Given the description of an element on the screen output the (x, y) to click on. 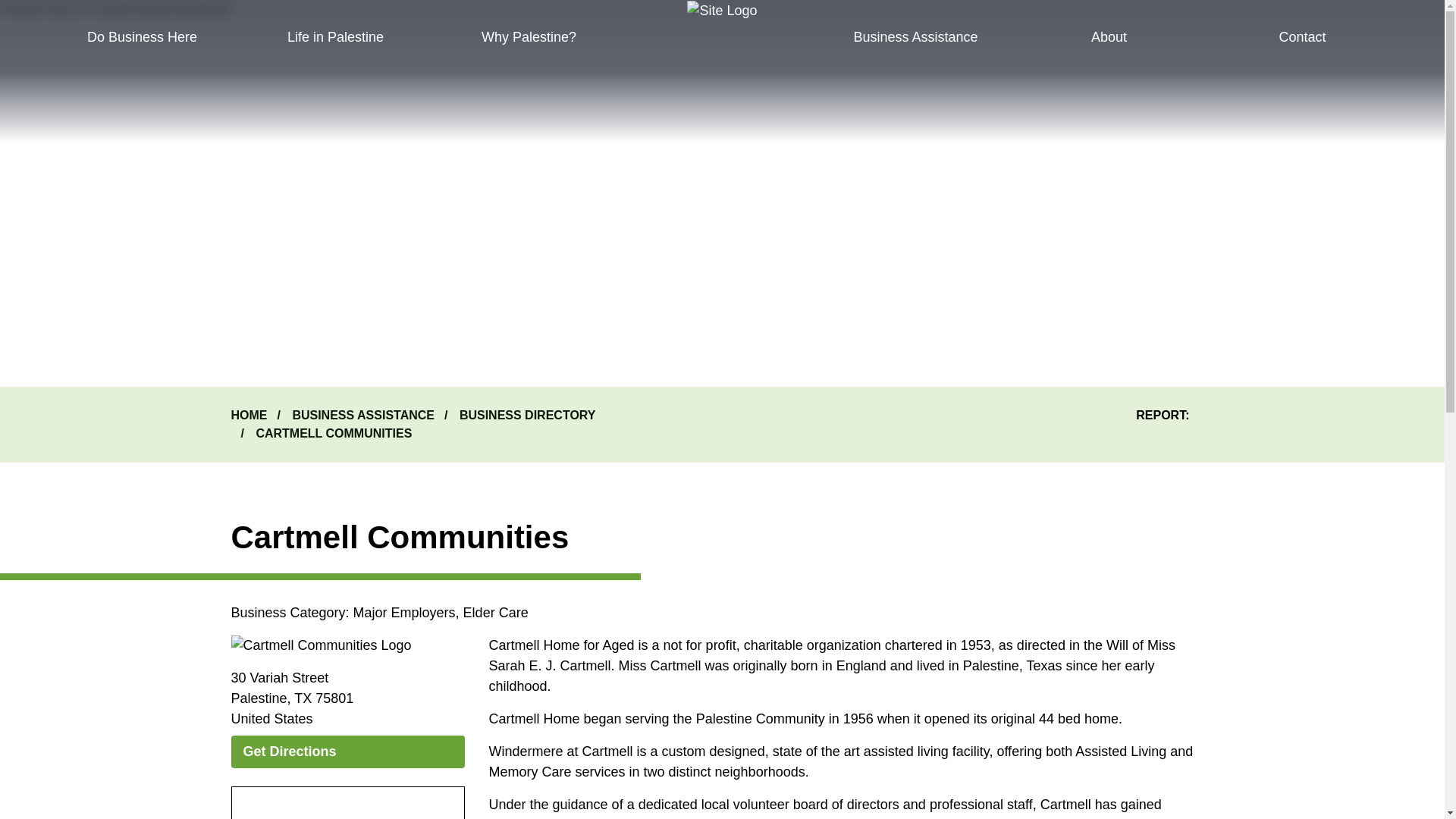
About (1108, 37)
Do Business Here (141, 37)
Business Assistance (914, 37)
Life in Palestine (335, 37)
Why Palestine? (529, 37)
